Given the description of an element on the screen output the (x, y) to click on. 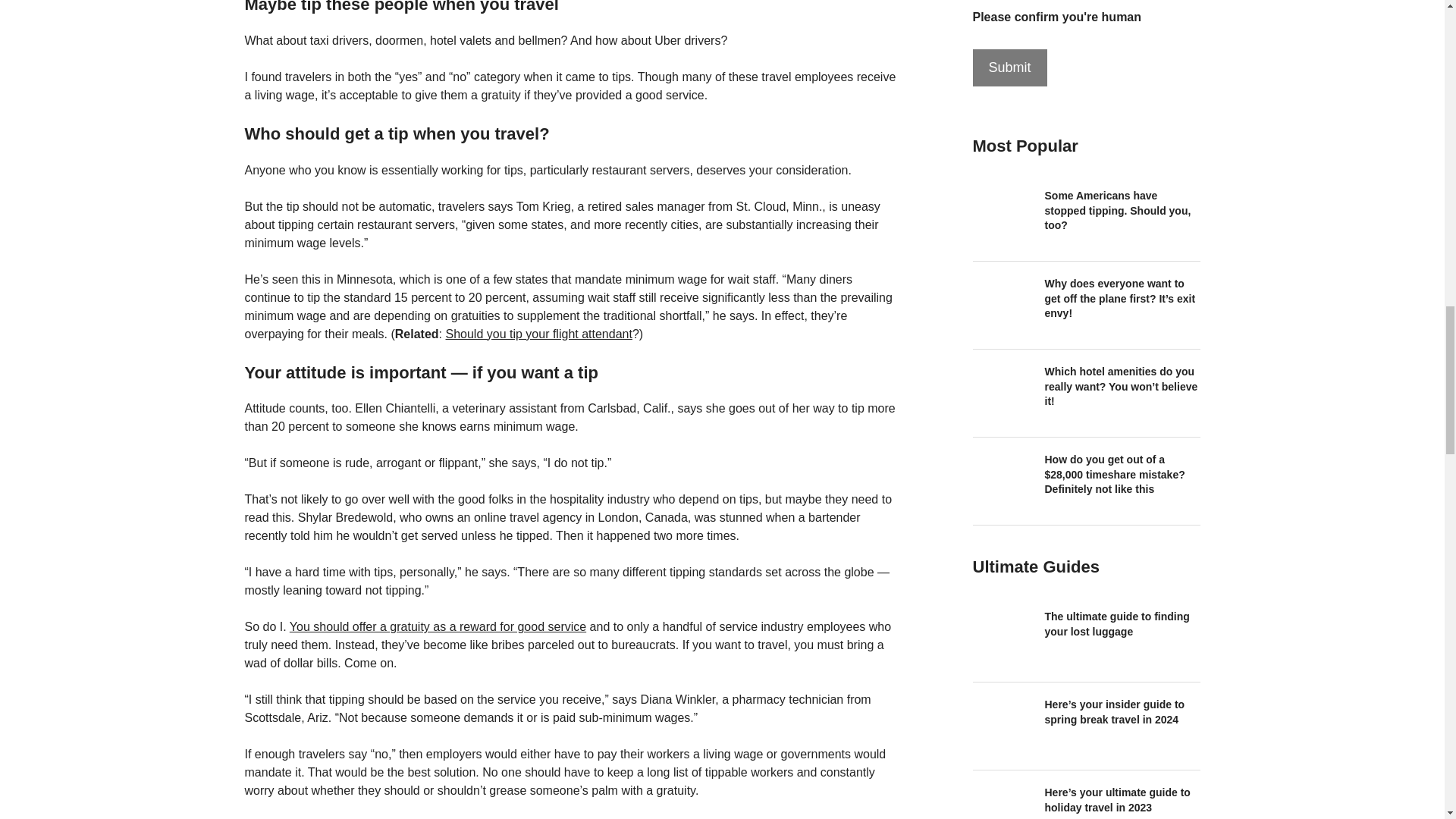
Submit (1009, 67)
